Given the description of an element on the screen output the (x, y) to click on. 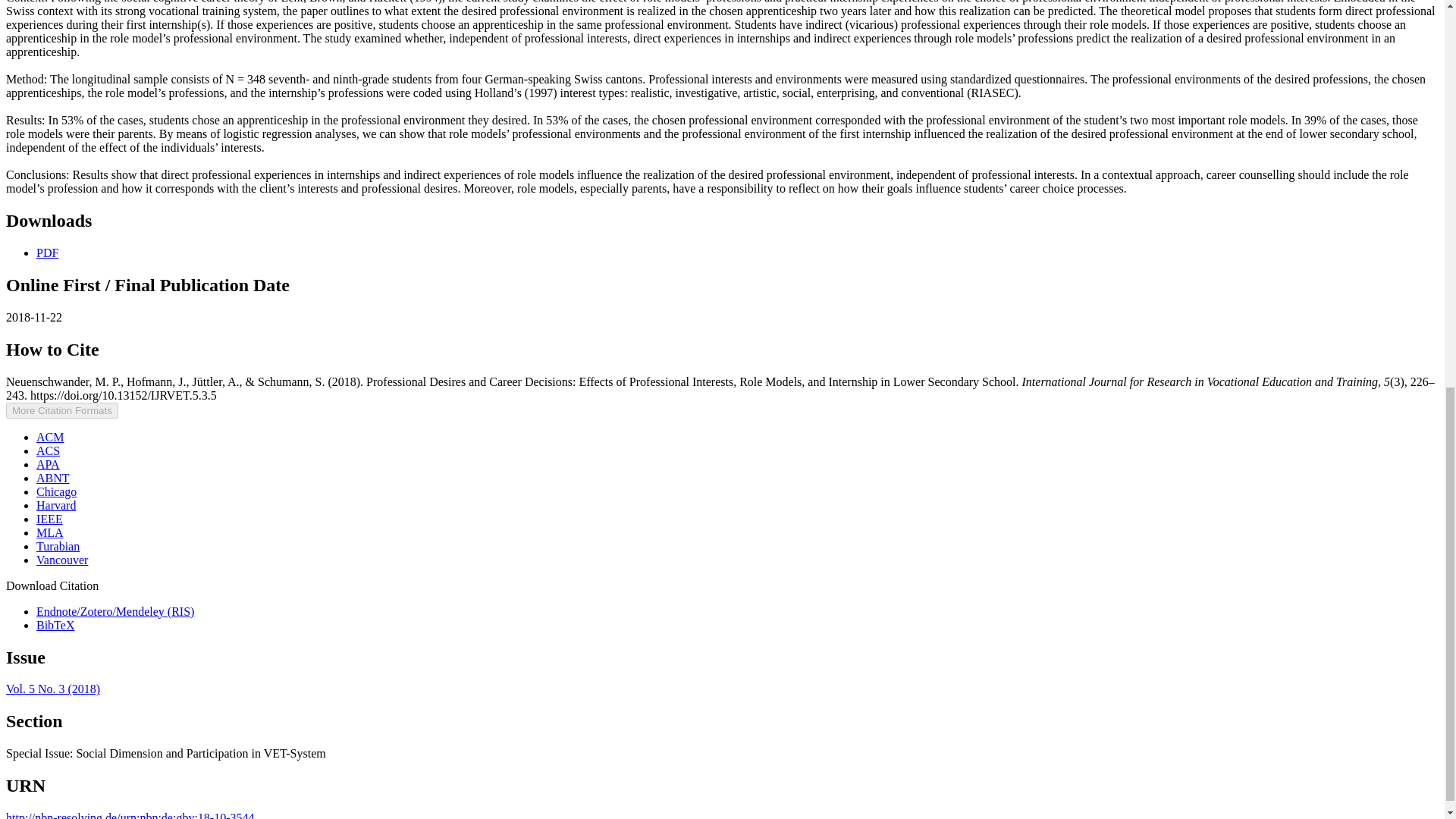
ACM (50, 436)
ACS (47, 450)
ABNT (52, 477)
IEEE (49, 518)
More Citation Formats (61, 410)
MLA (50, 532)
PDF (47, 252)
BibTeX (55, 625)
Chicago (56, 491)
Turabian (58, 545)
Vancouver (61, 559)
Harvard (55, 504)
APA (47, 463)
